Given the description of an element on the screen output the (x, y) to click on. 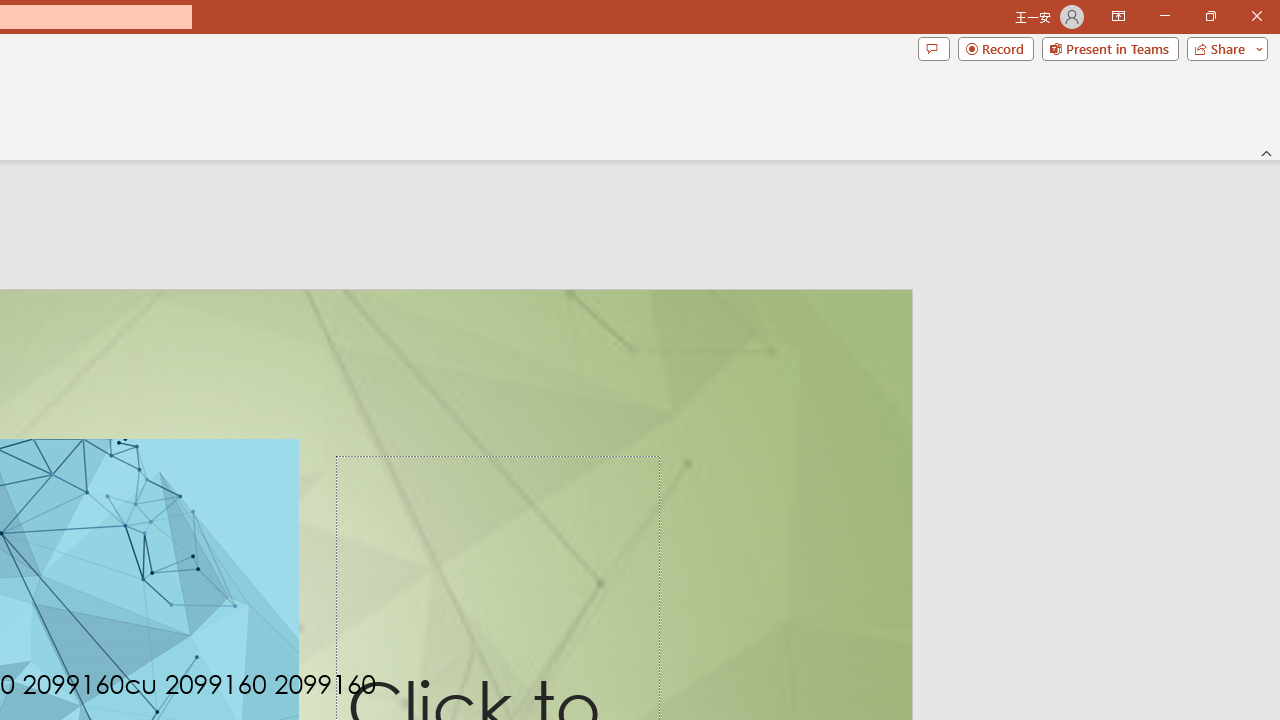
Present in Teams (1109, 48)
Minimize (1164, 16)
Ribbon Display Options (1118, 16)
Close (1256, 16)
Comments (933, 48)
Share (1223, 48)
Restore Down (1210, 16)
Record (995, 48)
Collapse the Ribbon (1267, 152)
